Given the description of an element on the screen output the (x, y) to click on. 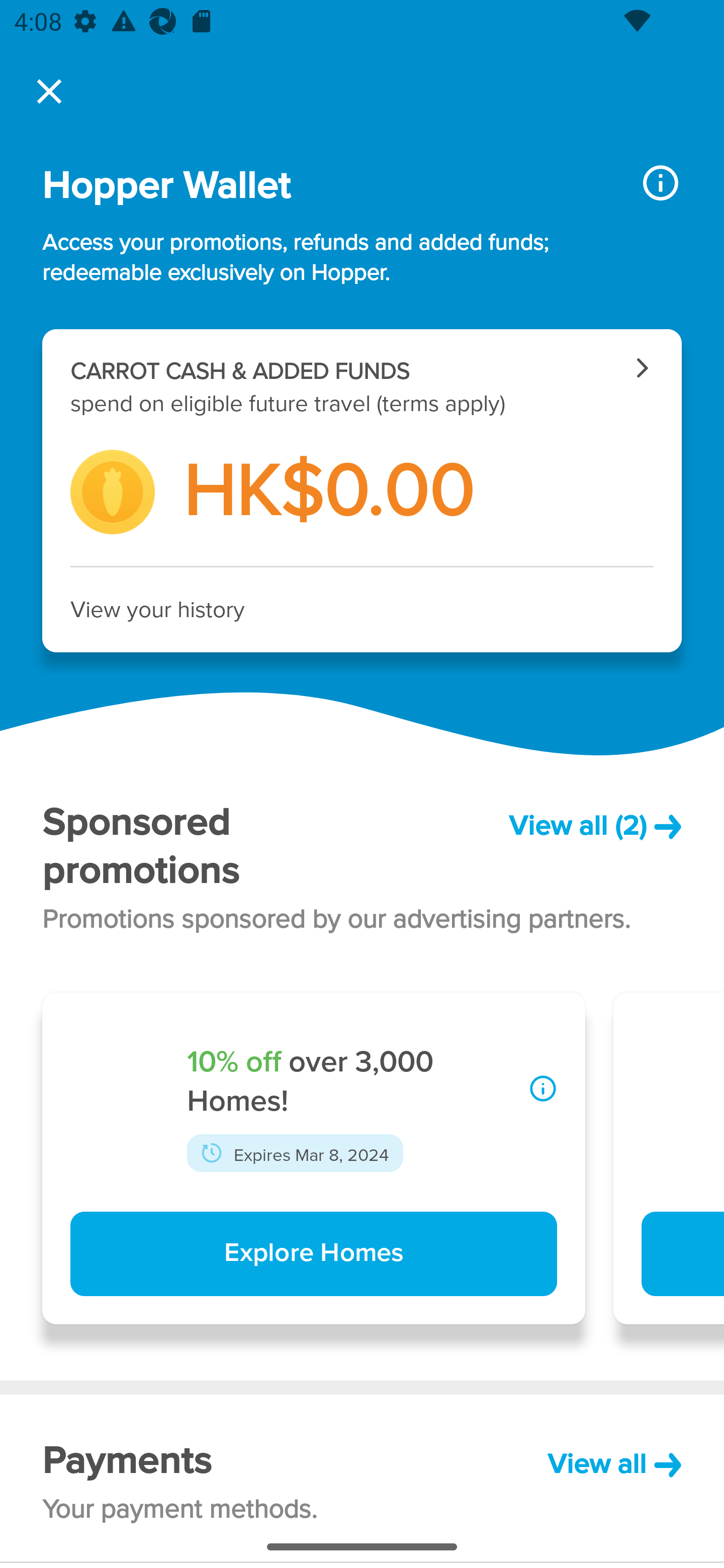
Navigate up (49, 91)
‍Hopper Wallet (326, 185)
‍View your history (361, 609)
‍Explore Homes (313, 1254)
‍Payments ‍View all ​ ‍Your payment methods. (362, 1477)
